Given the description of an element on the screen output the (x, y) to click on. 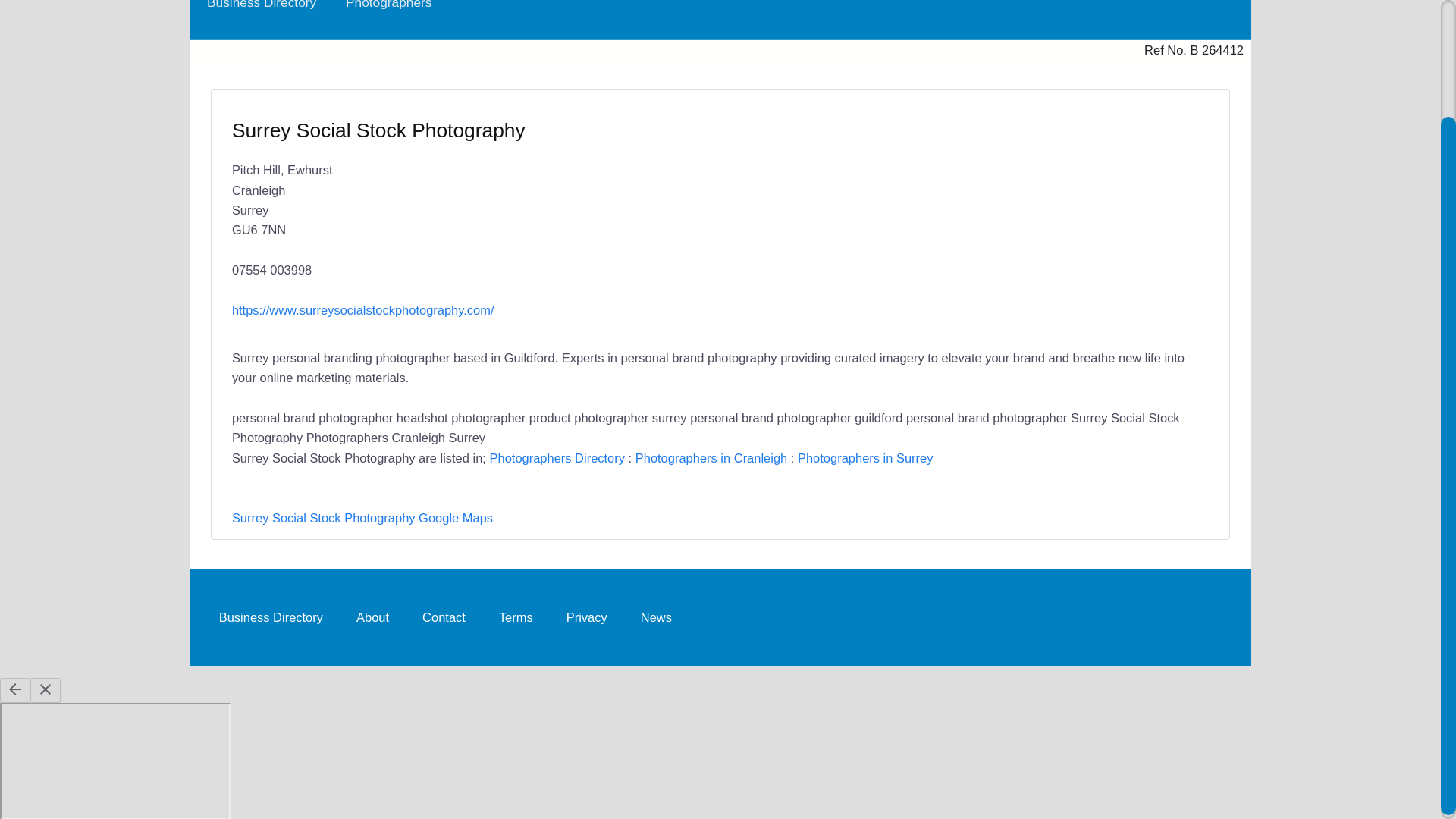
Photographers in Cranleigh (710, 458)
Photographers in Surrey (865, 458)
Surrey Social Stock Photography Google Maps (362, 517)
Business Directory (261, 12)
Privacy (586, 616)
Advertisement (956, 207)
Contact (444, 616)
Photographers (388, 12)
News (656, 616)
Photographers Directory (557, 458)
Terms (515, 616)
About (372, 616)
Business Directory (270, 616)
